Given the description of an element on the screen output the (x, y) to click on. 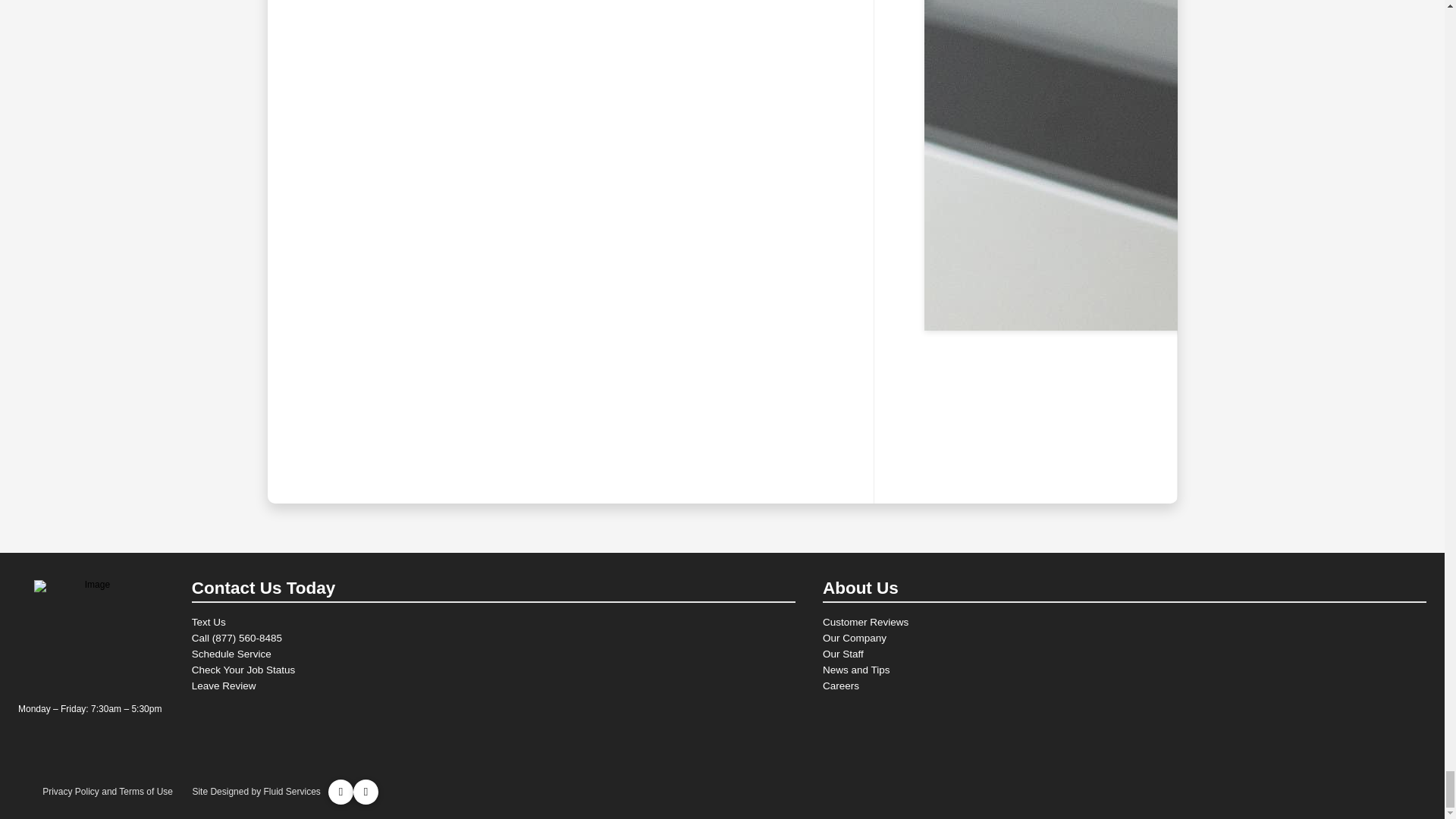
Text Us (493, 621)
Leave Review (493, 685)
Check Your Job Status (493, 669)
Schedule Service (493, 653)
Customer Reviews (1124, 621)
